Given the description of an element on the screen output the (x, y) to click on. 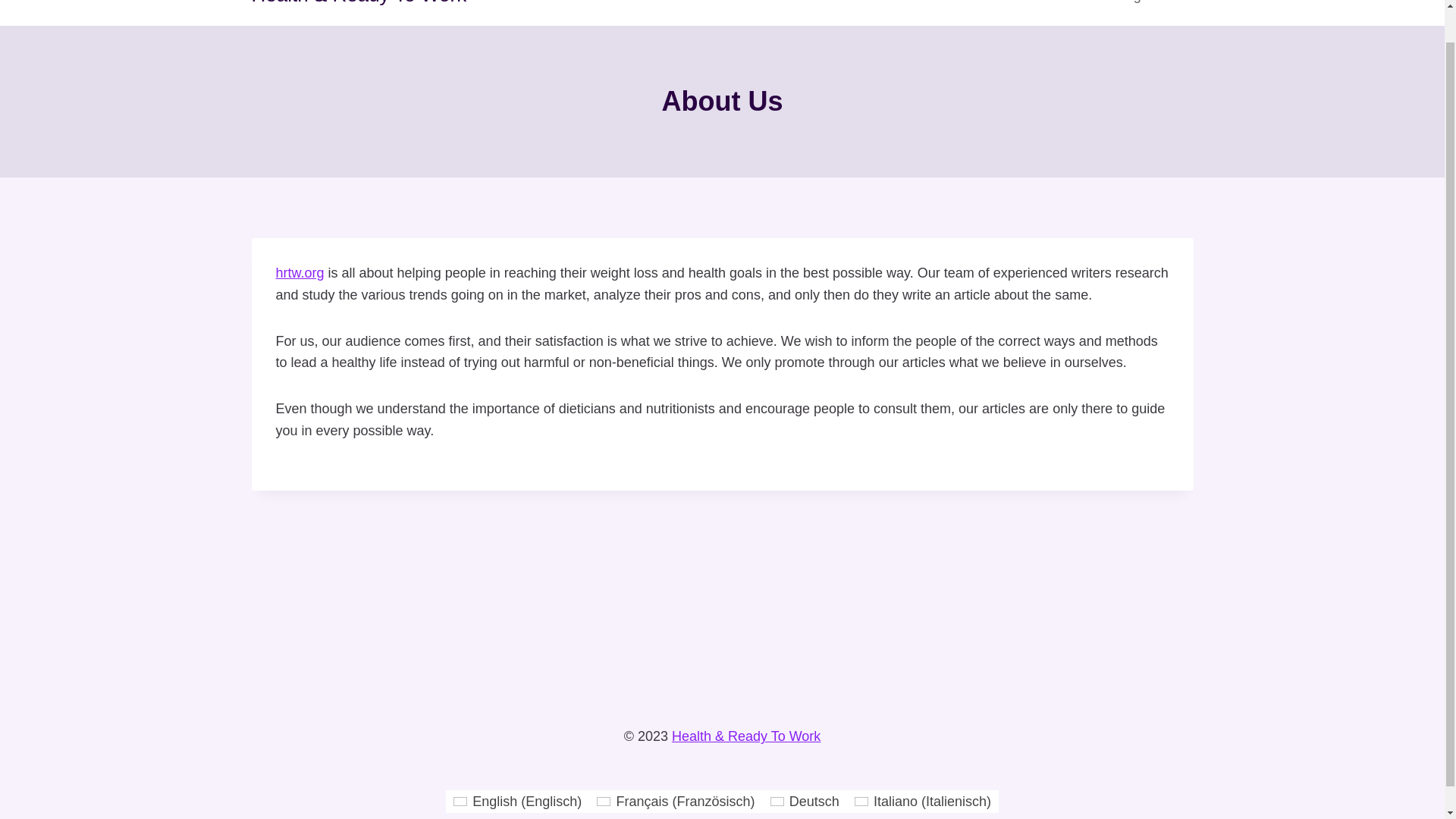
hrtw.org (300, 272)
Deutsch (804, 801)
Weight Loss (1147, 7)
About Us (1065, 7)
